Given the description of an element on the screen output the (x, y) to click on. 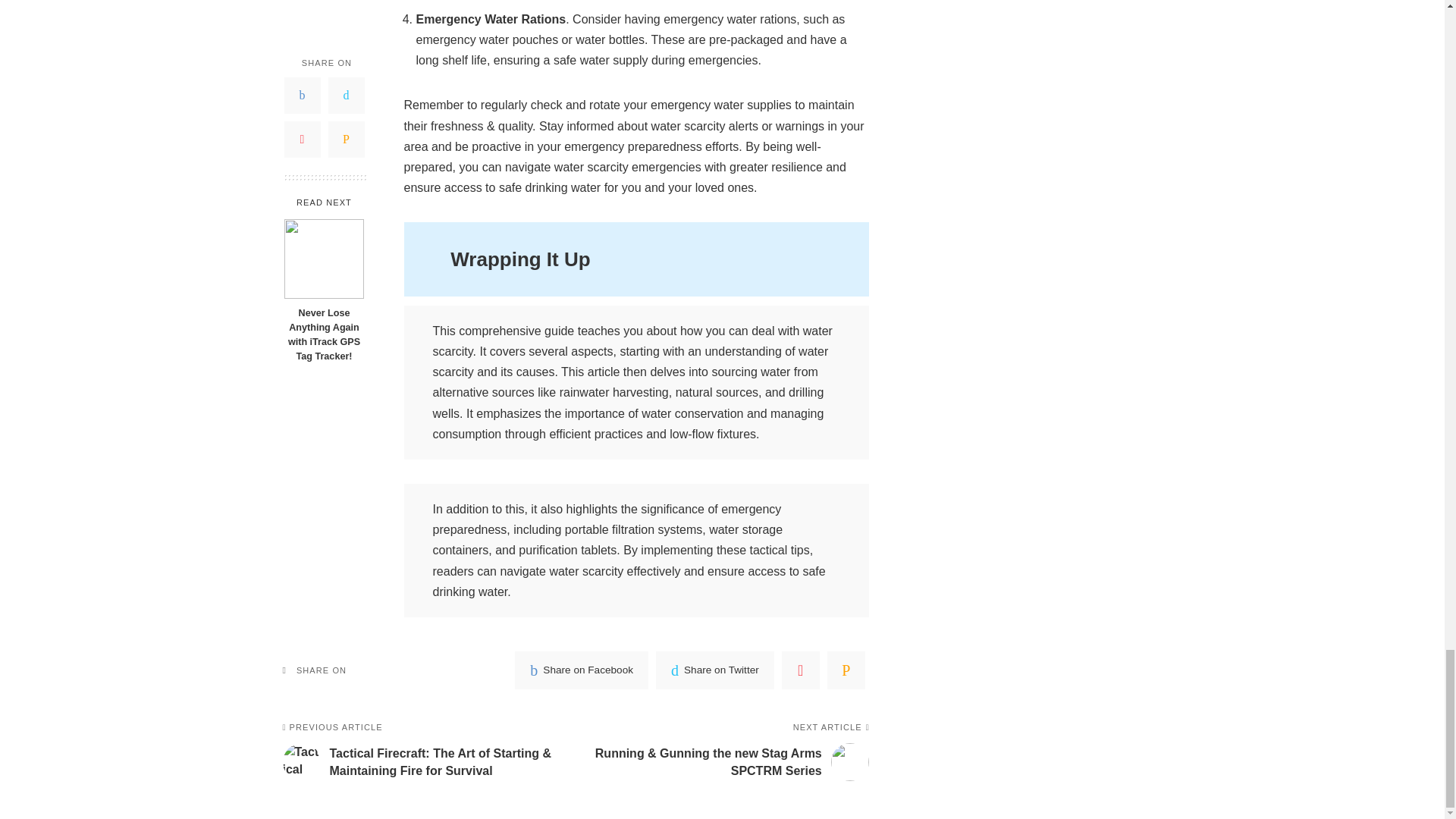
Pinterest (800, 670)
Email (845, 670)
Facebook (581, 670)
Twitter (715, 670)
